Given the description of an element on the screen output the (x, y) to click on. 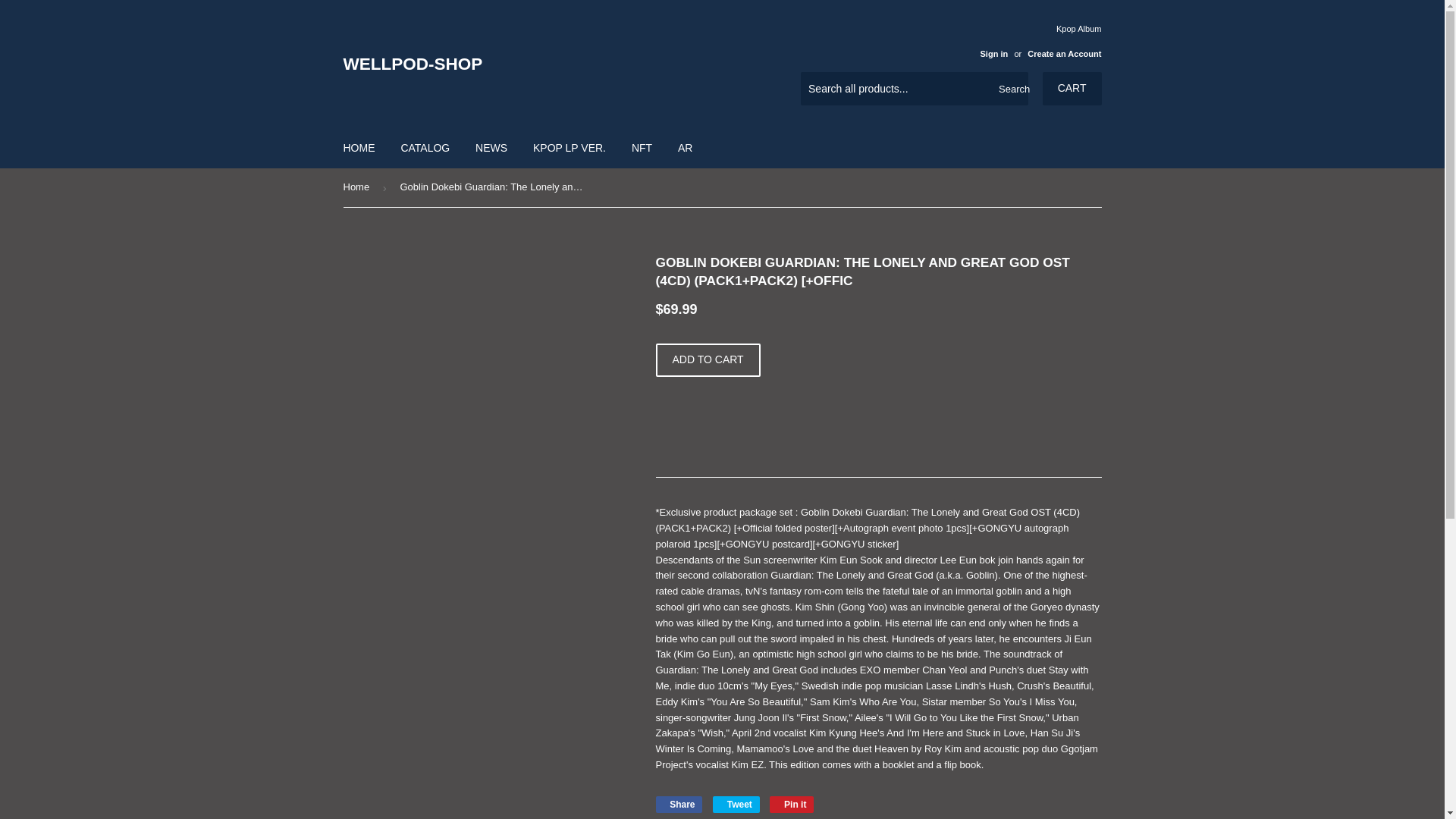
Tweet on Twitter (736, 804)
HOME (359, 147)
CATALOG (424, 147)
Pin on Pinterest (791, 804)
WELLPOD-SHOP (532, 64)
Sign in (993, 53)
AR (684, 147)
Search (1010, 89)
NEWS (791, 804)
Share on Facebook (678, 804)
ADD TO CART (736, 804)
CART (491, 147)
